Given the description of an element on the screen output the (x, y) to click on. 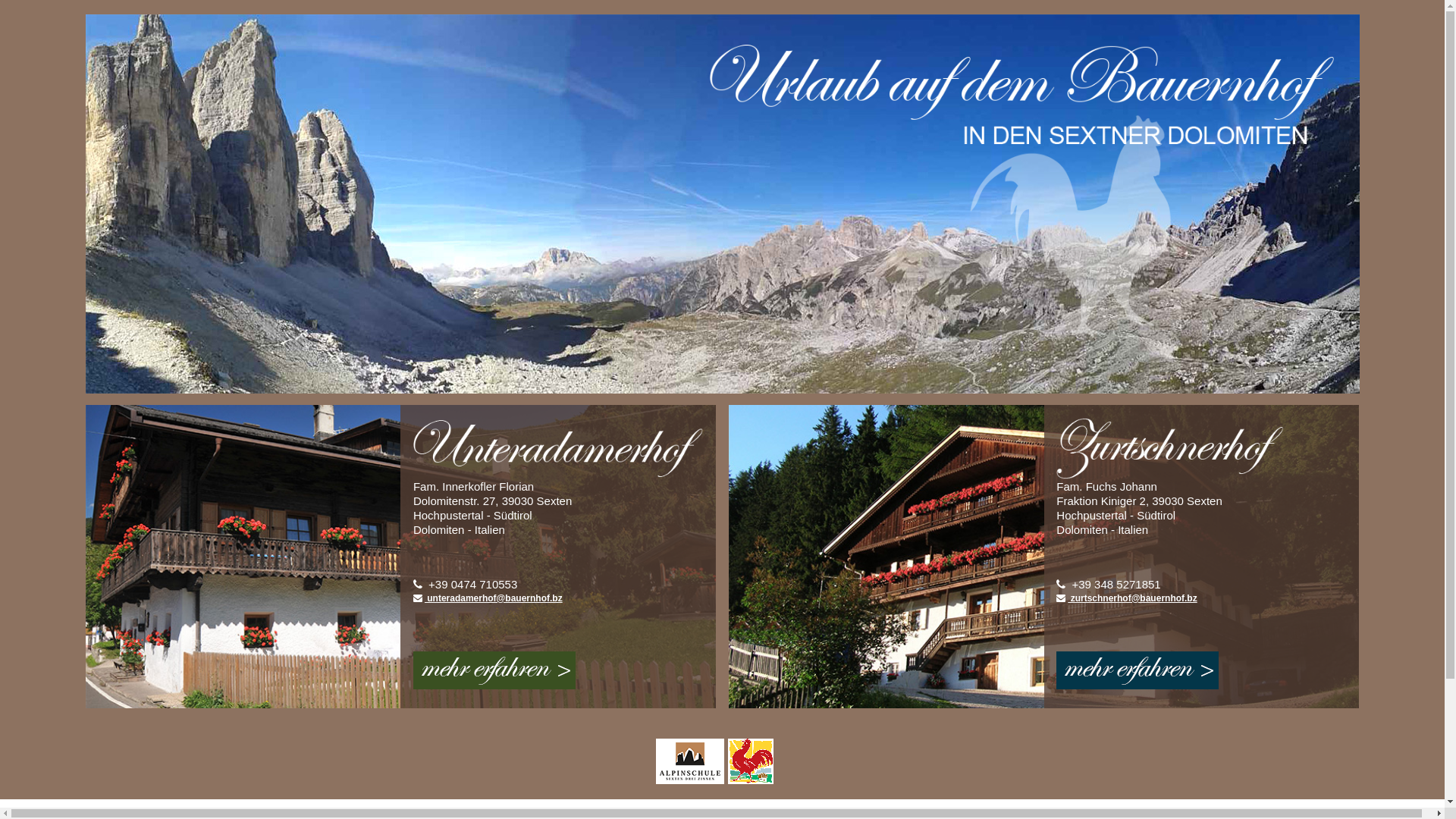
  zurtschnerhof@bauernhof.bz Element type: text (1126, 598)
Unteradamer Hof Element type: hover (494, 685)
Zurtschnerhof Element type: hover (1137, 685)
  unteradamerhof@bauernhof.bz Element type: text (487, 598)
